Given the description of an element on the screen output the (x, y) to click on. 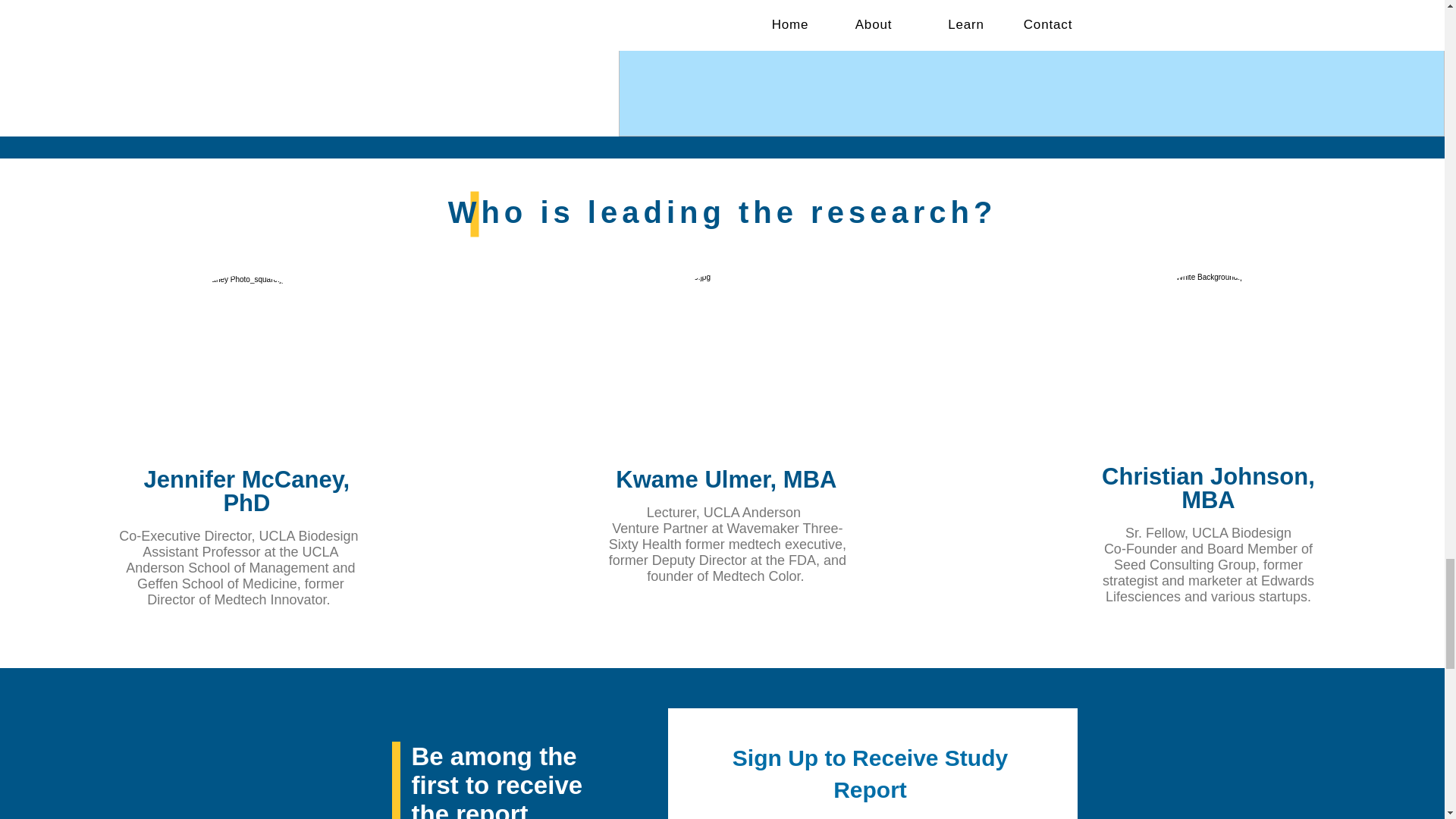
GettyImages-535587703.jpg (245, 362)
GettyImages-124893619.jpg (727, 359)
GettyImages-145680711.jpg (1207, 363)
